Given the description of an element on the screen output the (x, y) to click on. 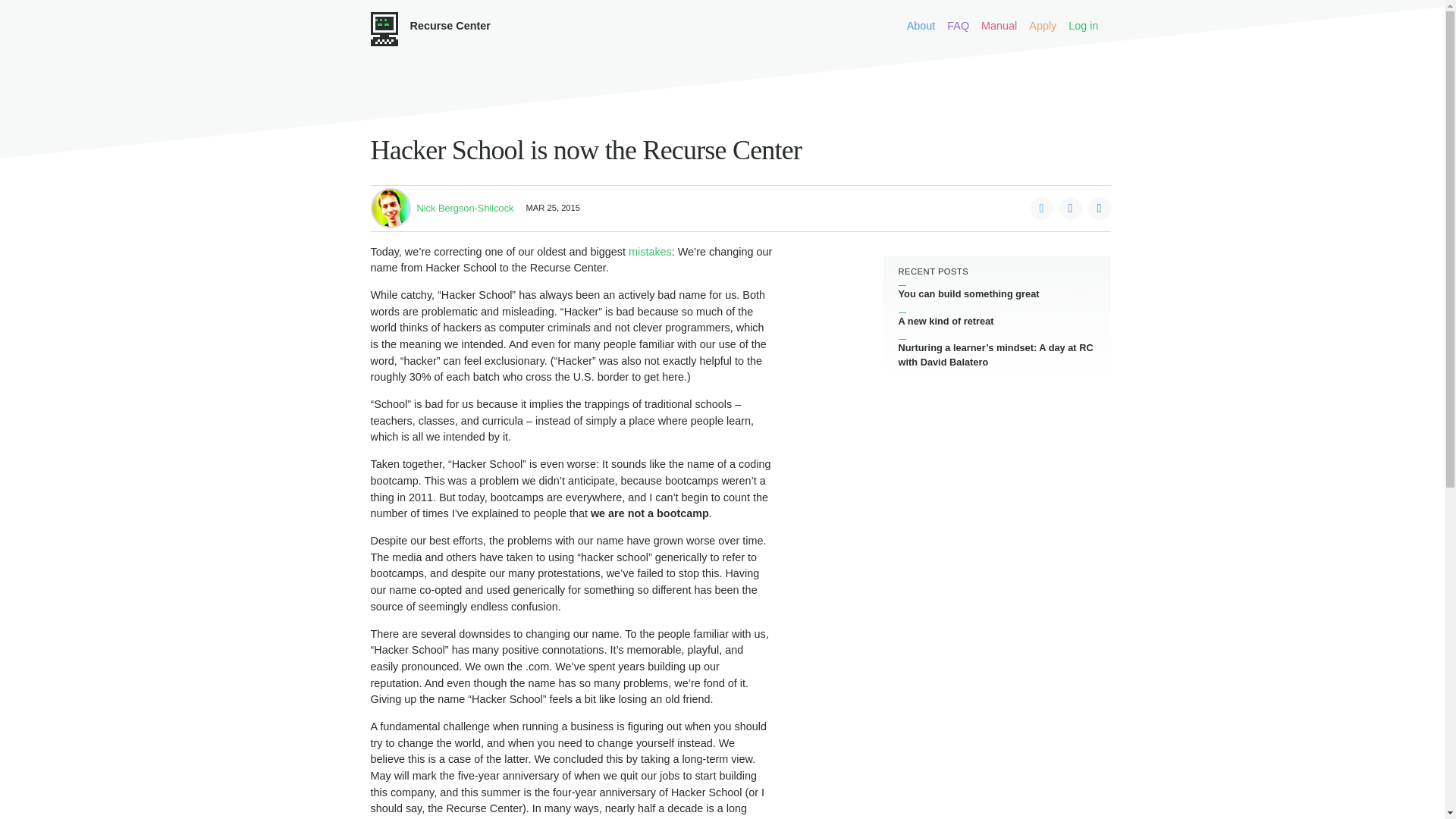
FAQ (958, 26)
Log in (1082, 26)
A new kind of retreat (995, 320)
Manual (998, 26)
mistakes (649, 251)
About (921, 26)
You can build something great (995, 293)
Nick Bergson-Shilcock (464, 207)
Apply (1043, 26)
